Given the description of an element on the screen output the (x, y) to click on. 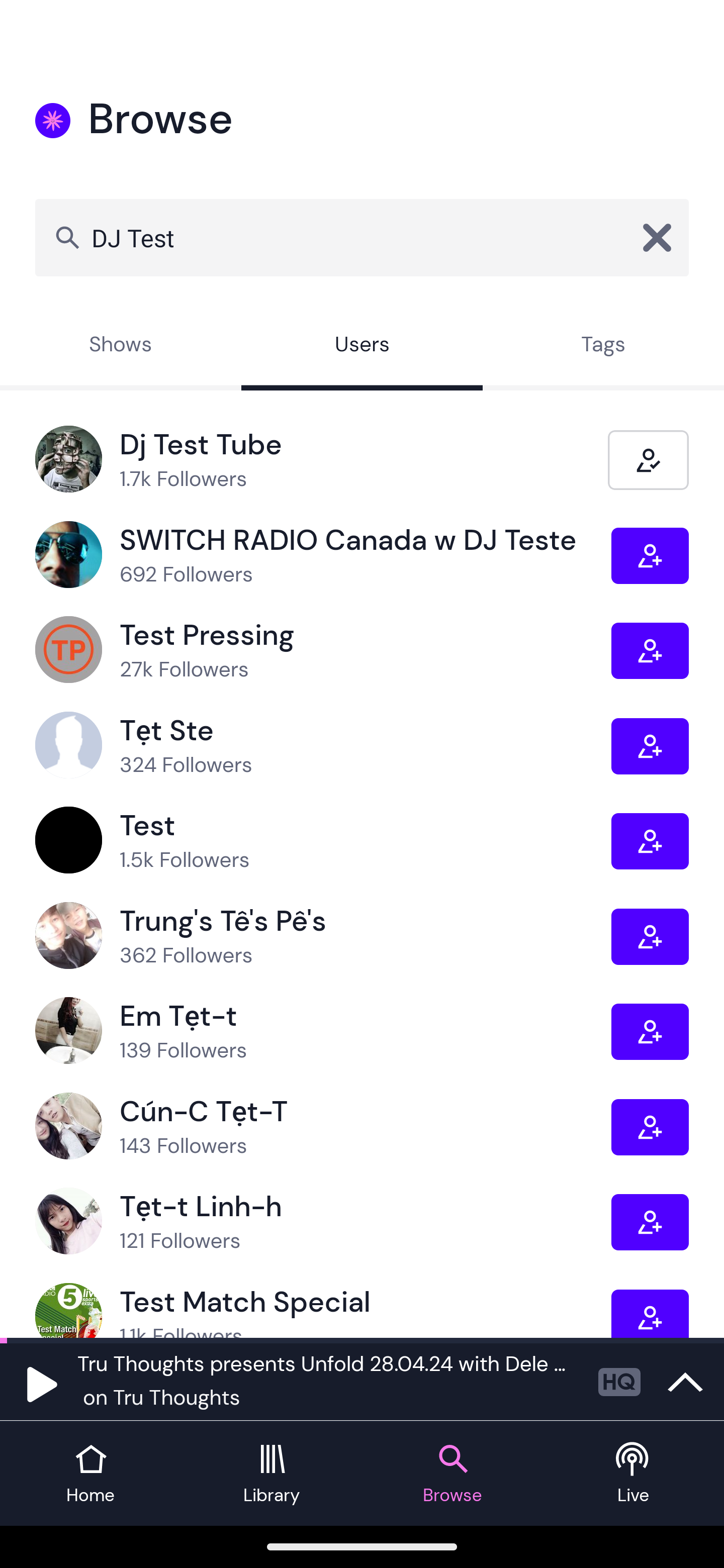
DJ Test (361, 237)
Shows (120, 346)
Users (361, 346)
Tags (603, 346)
Following (648, 459)
Follow (649, 555)
Follow (649, 650)
Tẹt Ste, 324 Followers Tẹt Ste 324 Followers (323, 745)
Follow (649, 746)
Test, 1.5k Followers Test 1.5k Followers (323, 839)
Follow (649, 840)
Follow (649, 935)
Em Tẹt-t, 139 Followers Em Tẹt-t 139 Followers (323, 1031)
Follow (649, 1031)
Follow (649, 1127)
Follow (649, 1221)
Follow (649, 1312)
Home tab Home (90, 1473)
Library tab Library (271, 1473)
Browse tab Browse (452, 1473)
Live tab Live (633, 1473)
